Given the description of an element on the screen output the (x, y) to click on. 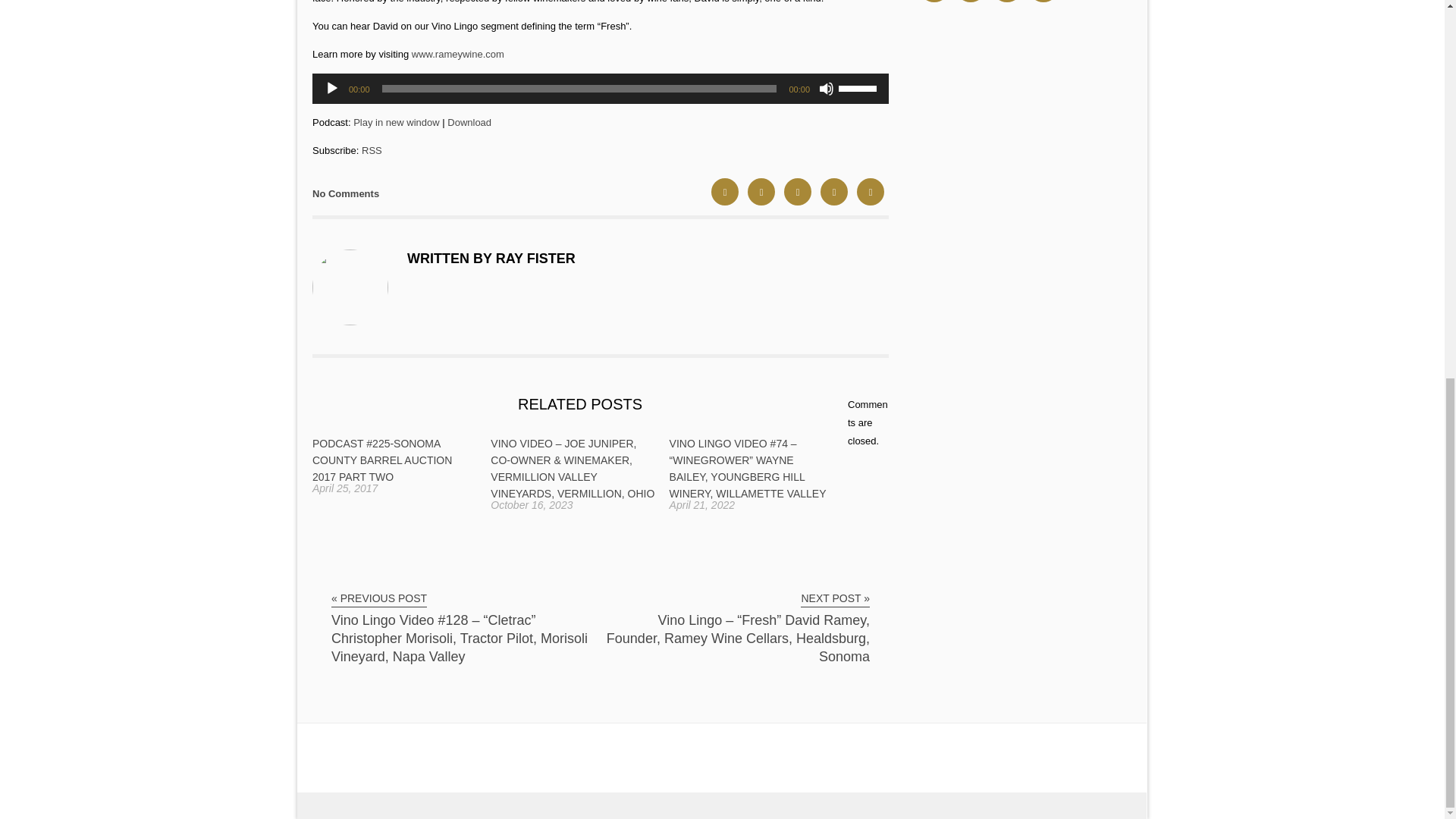
RSS (371, 150)
Play in new window (396, 122)
www.rameywine.com (457, 53)
Subscribe via RSS (371, 150)
Play (331, 88)
Mute (826, 88)
Play in new window (396, 122)
Download (469, 122)
Download (469, 122)
